Given the description of an element on the screen output the (x, y) to click on. 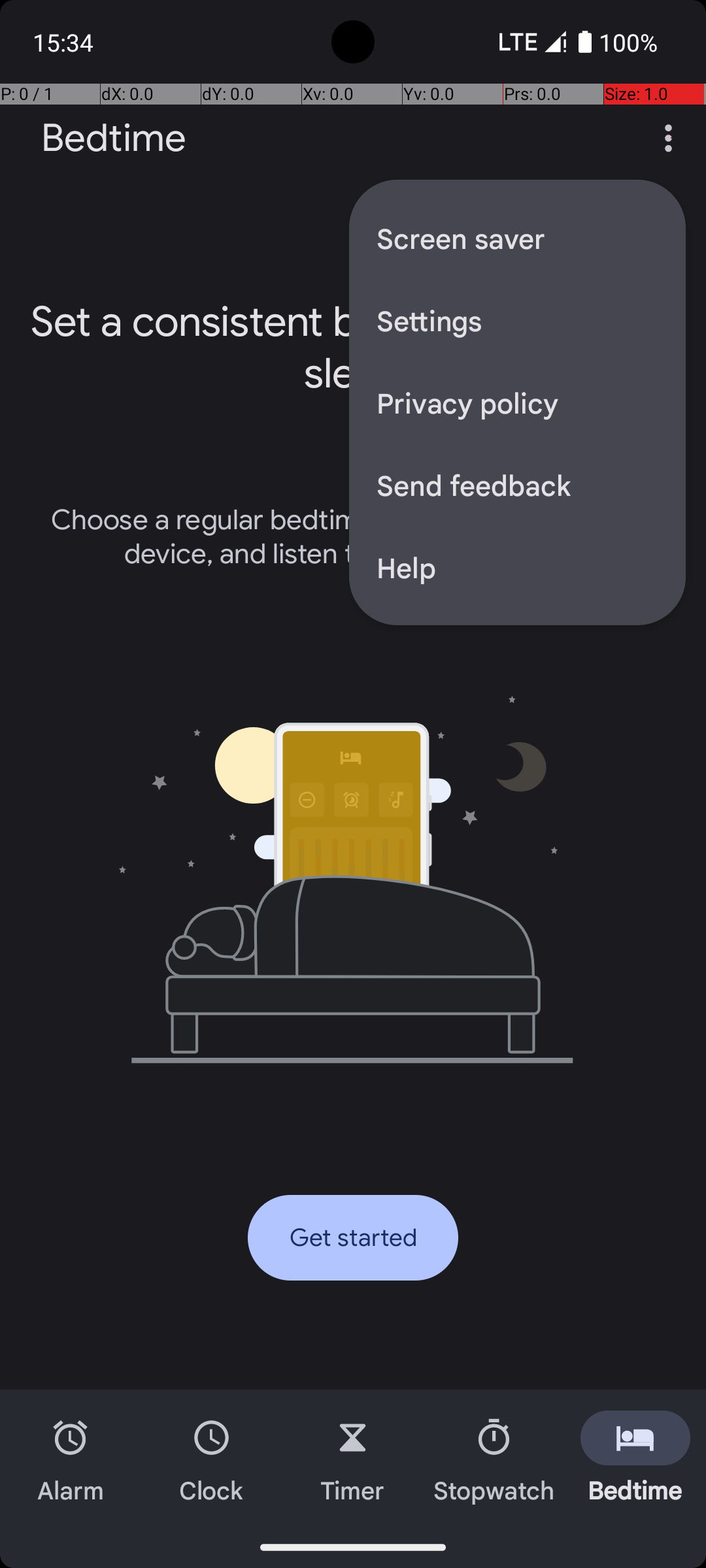
Screen saver Element type: android.widget.TextView (517, 237)
Send feedback Element type: android.widget.TextView (517, 484)
